Given the description of an element on the screen output the (x, y) to click on. 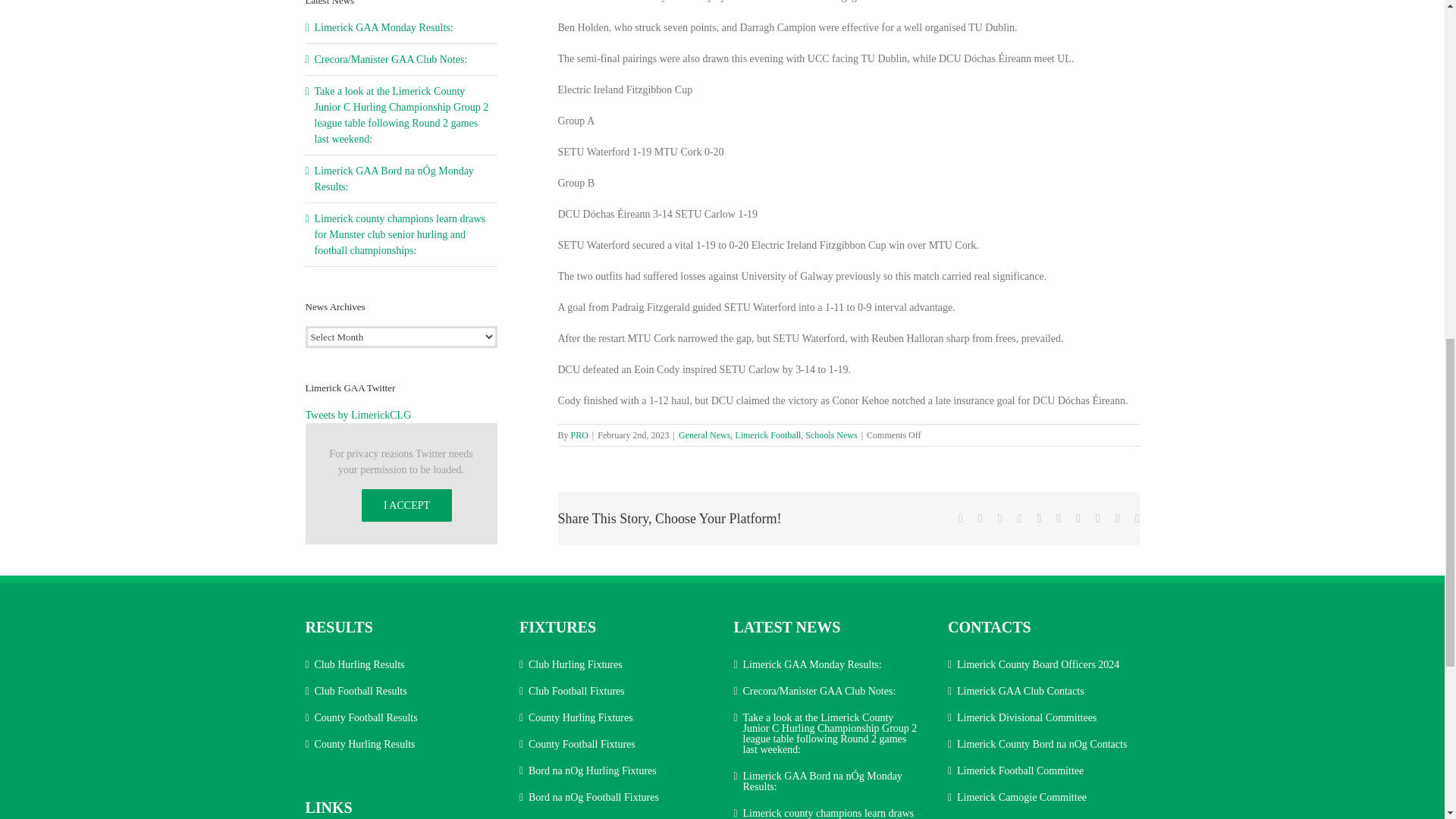
Posts by PRO (579, 434)
